Given the description of an element on the screen output the (x, y) to click on. 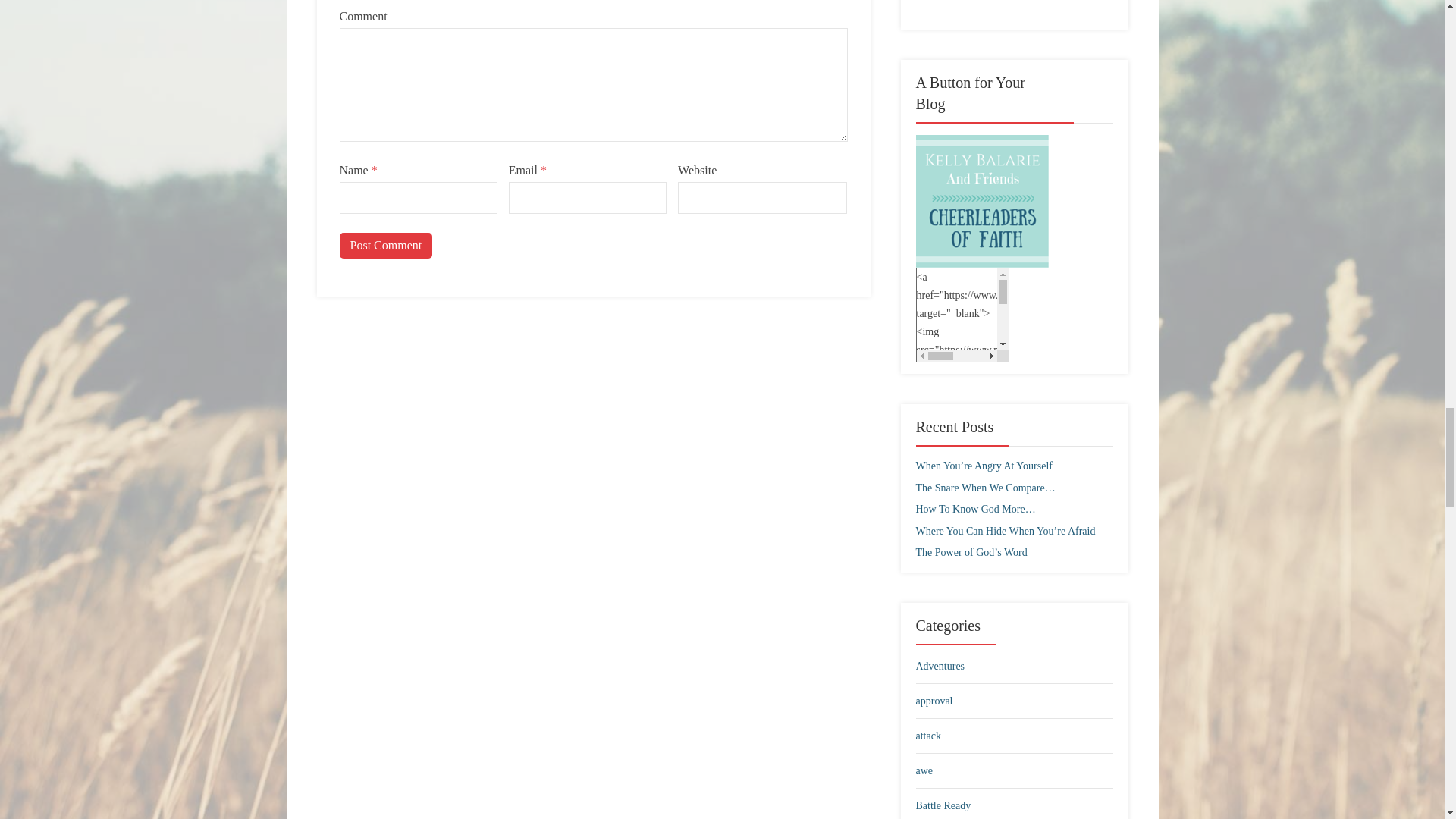
Post Comment (385, 245)
Post Comment (385, 245)
